Given the description of an element on the screen output the (x, y) to click on. 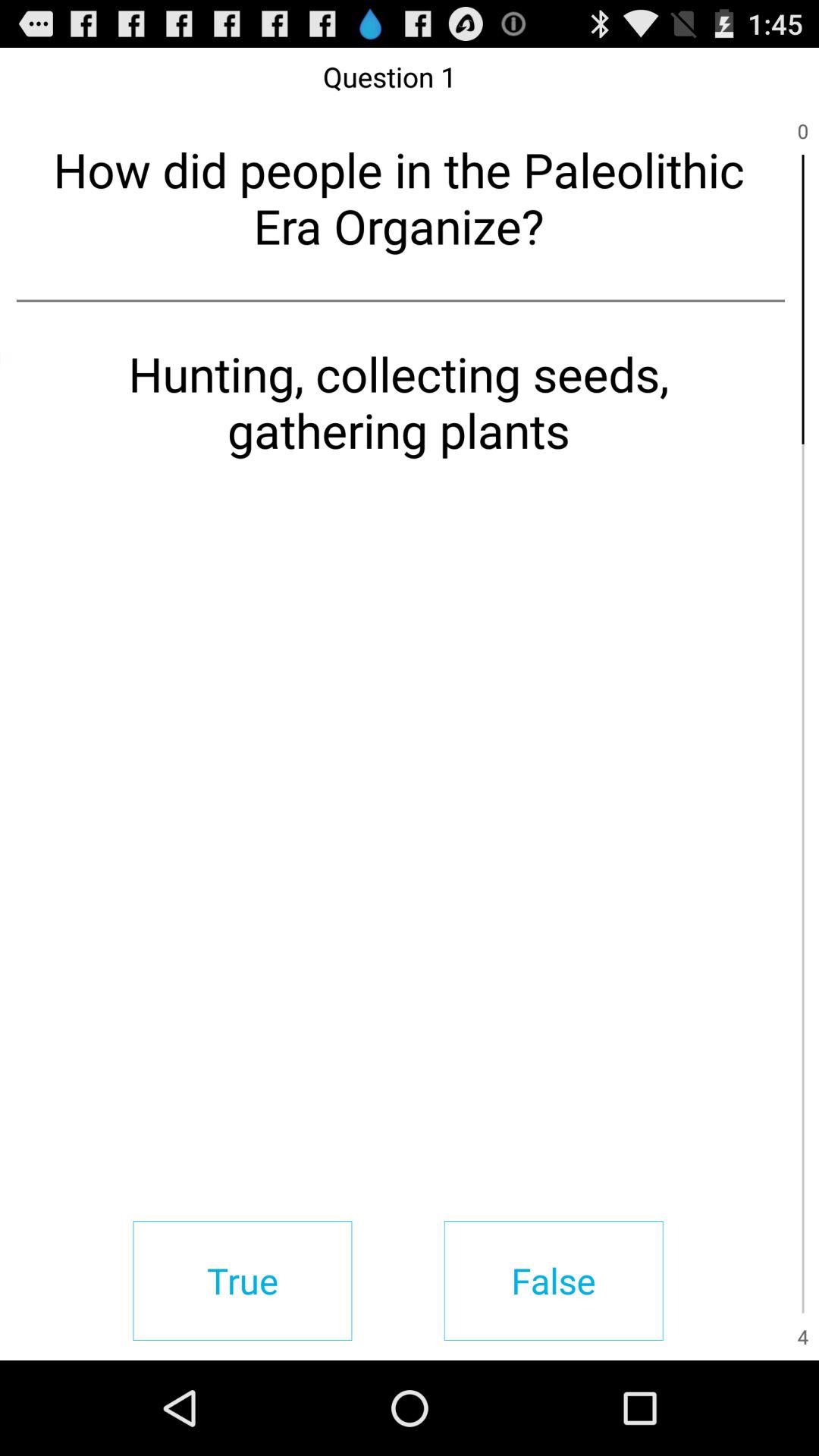
press true item (242, 1280)
